Given the description of an element on the screen output the (x, y) to click on. 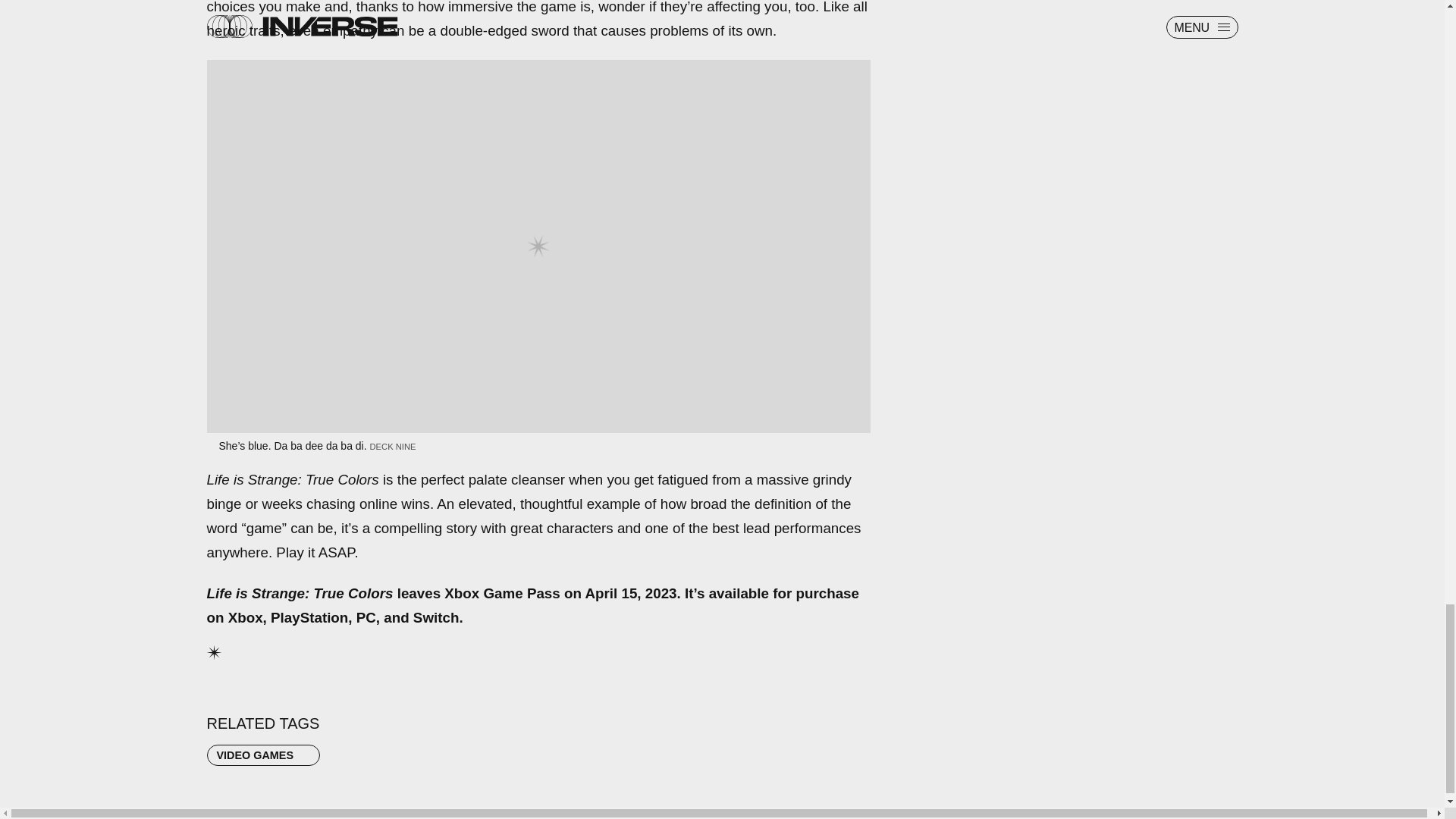
VIDEO GAMES (263, 754)
